Given the description of an element on the screen output the (x, y) to click on. 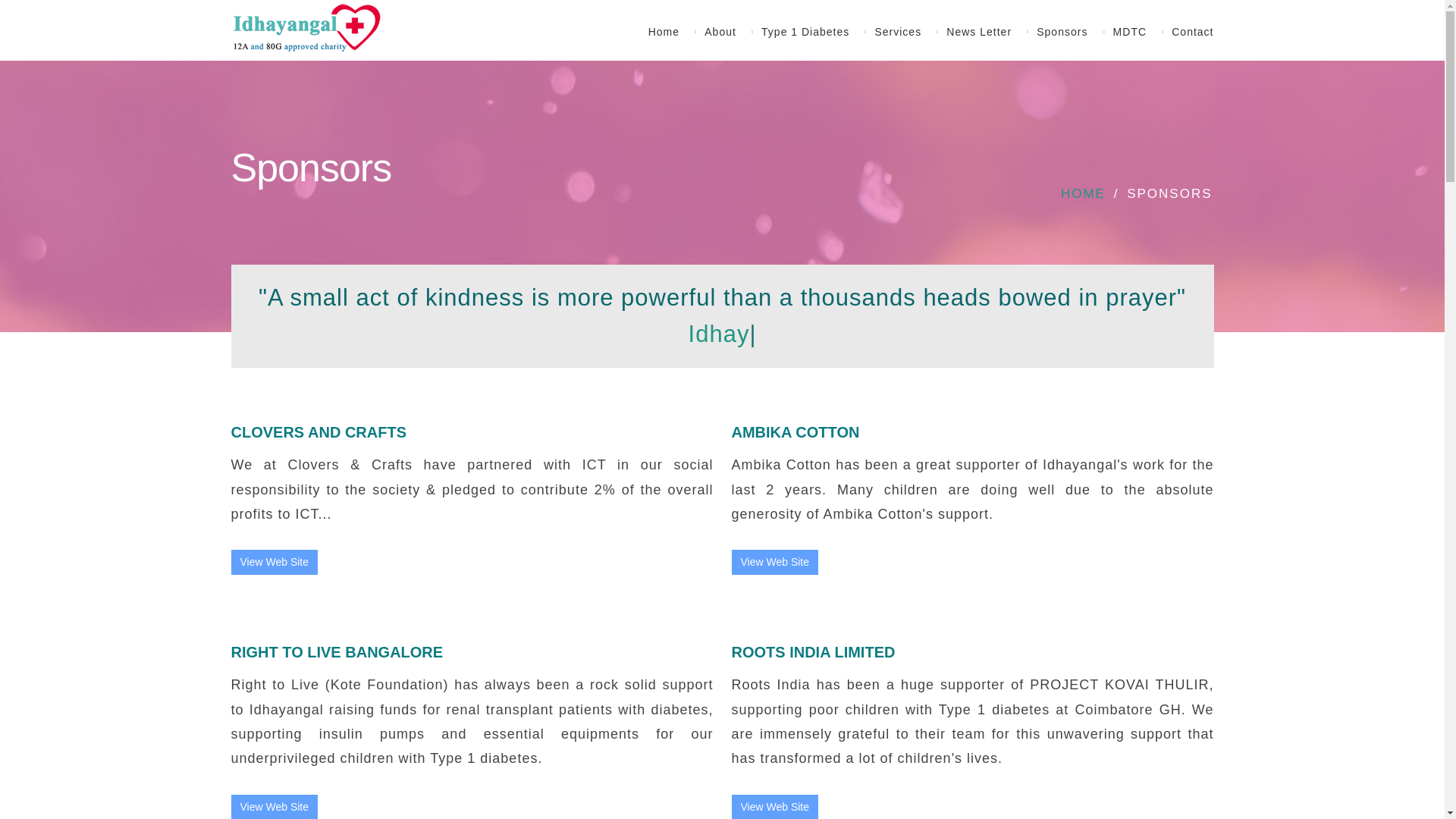
HOME (1083, 193)
View Web Site (774, 806)
View Web Site (273, 806)
Sponsors (1067, 32)
Home (668, 32)
News Letter (984, 32)
Type 1 Diabetes (810, 32)
Services (902, 32)
View Web Site (774, 561)
View Web Site (774, 806)
MDTC (1134, 32)
View Web Site (274, 562)
View Web Site (274, 806)
About (725, 32)
View Web Site (774, 562)
